Given the description of an element on the screen output the (x, y) to click on. 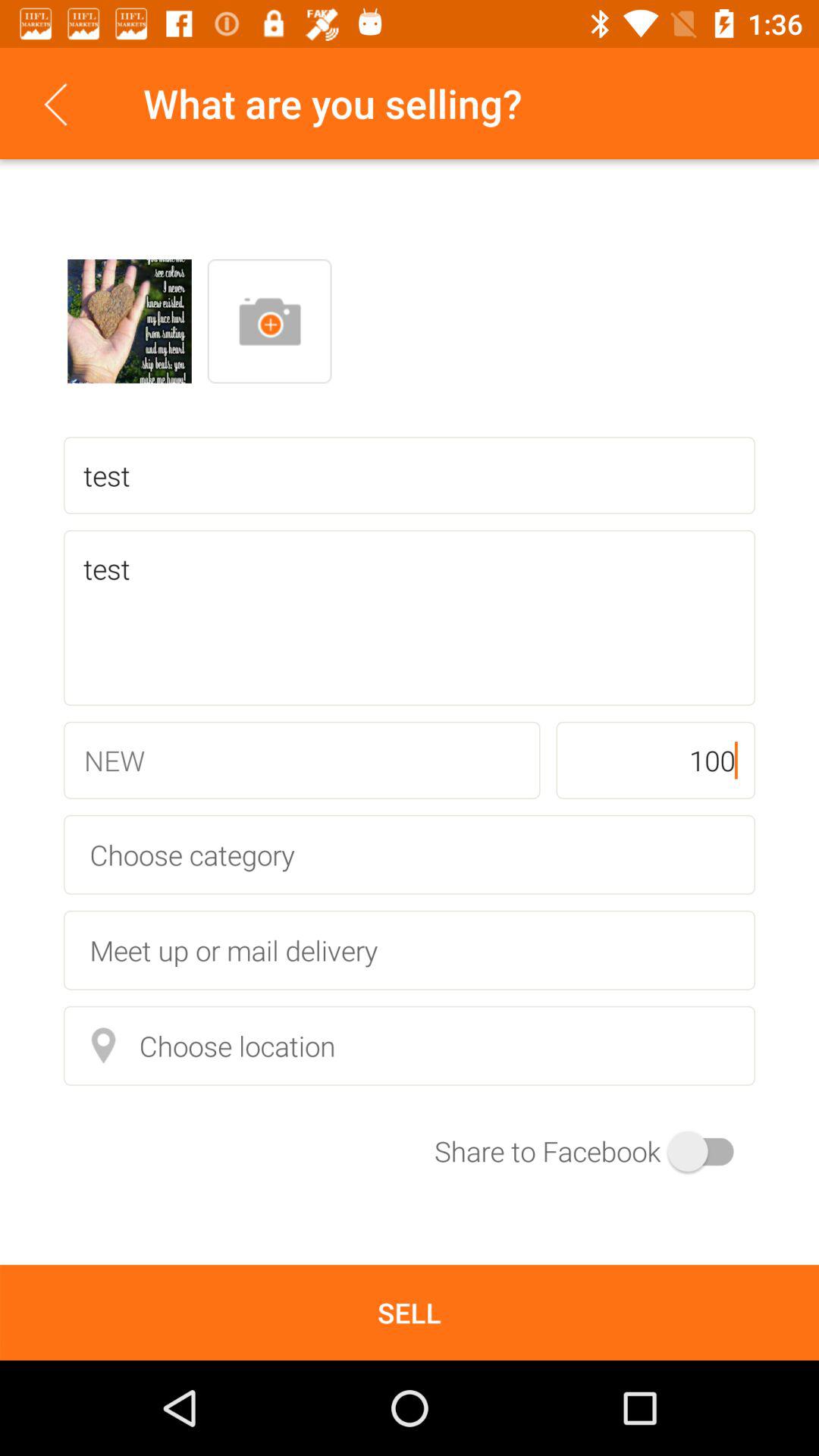
turn off icon below 100 icon (409, 854)
